Given the description of an element on the screen output the (x, y) to click on. 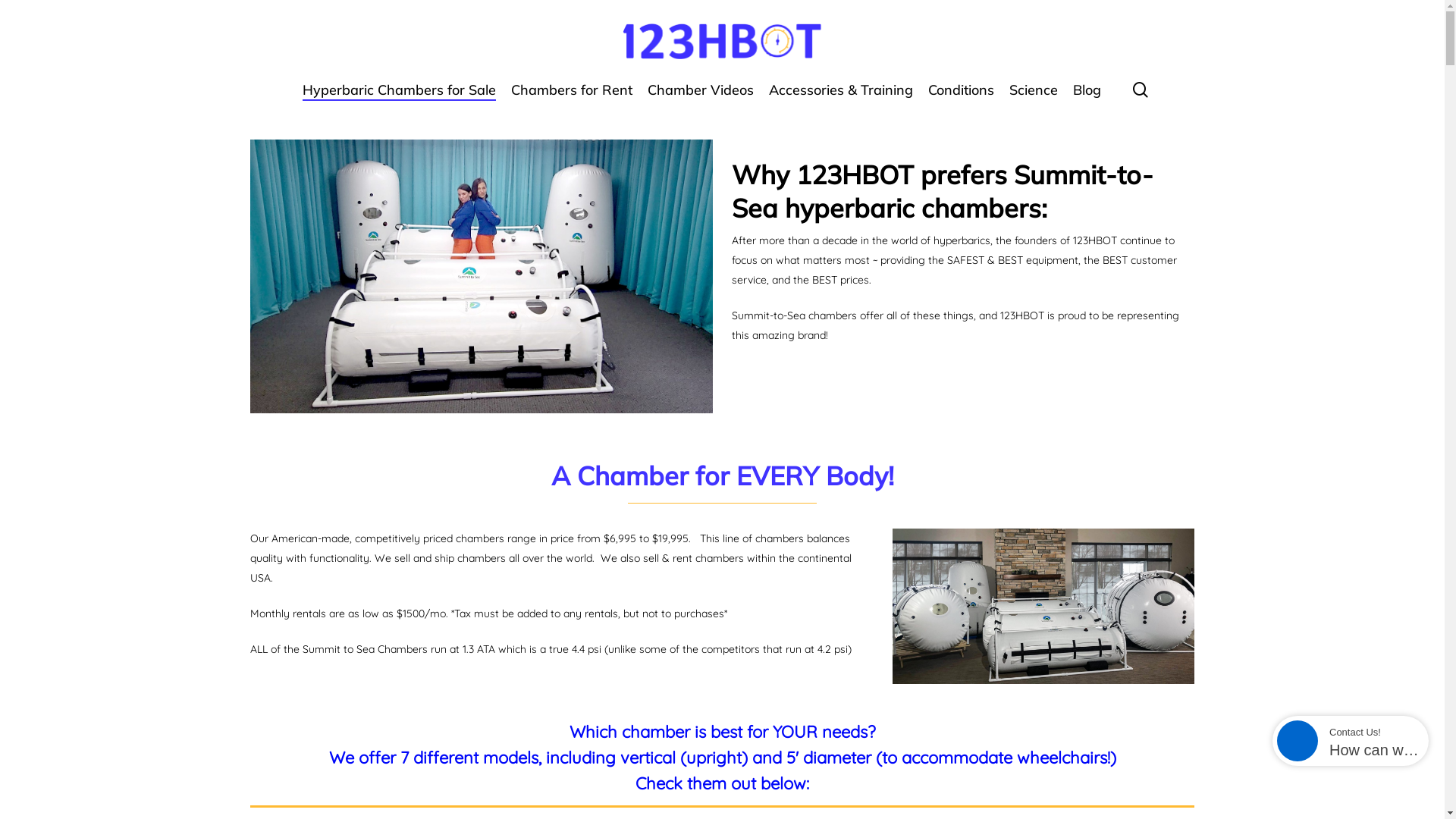
Conditions Element type: text (961, 97)
Chambers for Rent Element type: text (571, 97)
Blog Element type: text (1087, 97)
Accessories & Training Element type: text (840, 97)
search Element type: text (1140, 89)
Hyperbaric Chambers for Sale Element type: text (398, 97)
Science Element type: text (1033, 97)
Chamber Videos Element type: text (700, 97)
